Given the description of an element on the screen output the (x, y) to click on. 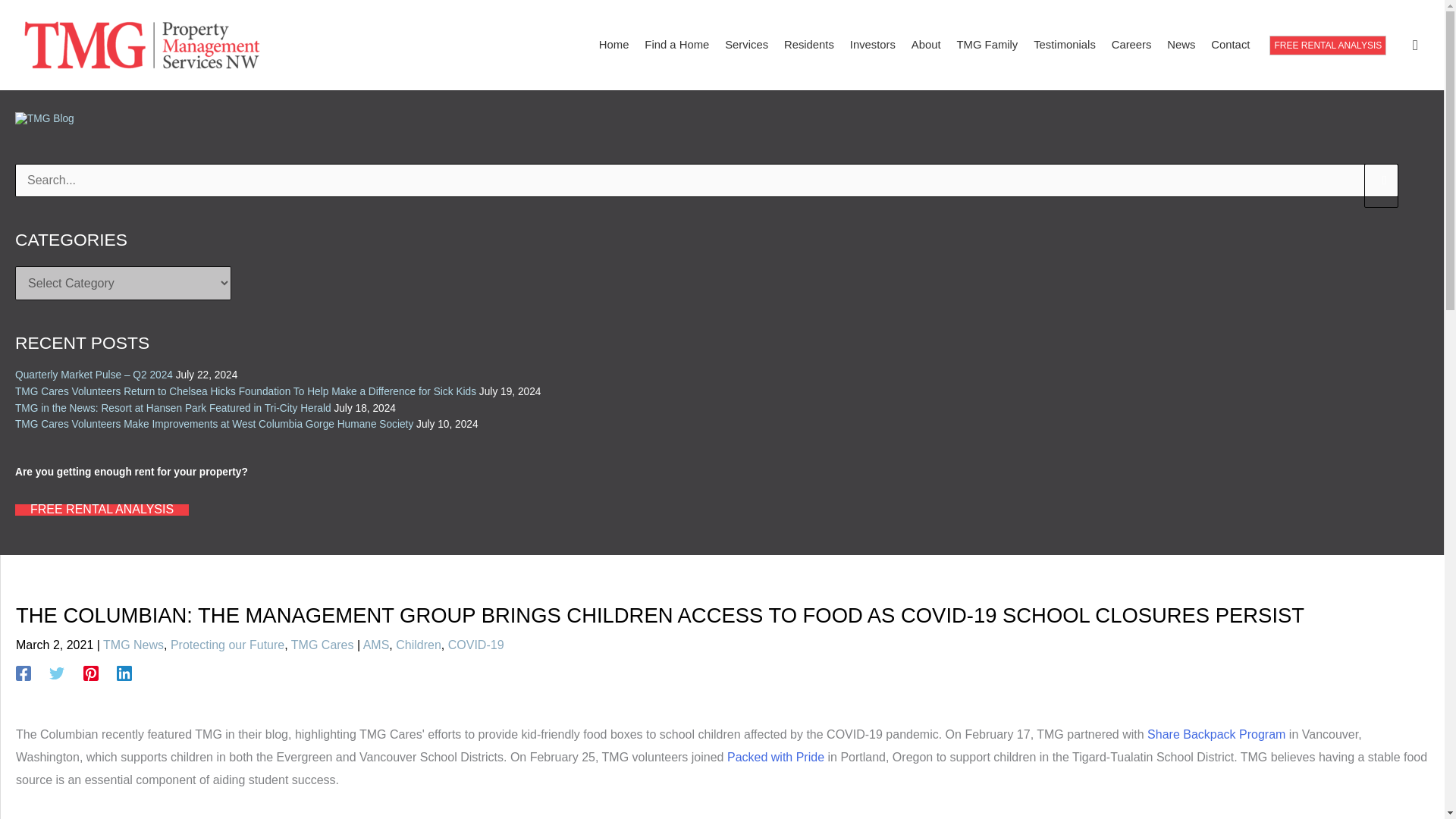
Residents (805, 44)
Services (743, 44)
Find a Home (673, 44)
Home (610, 44)
Investors (868, 44)
